Given the description of an element on the screen output the (x, y) to click on. 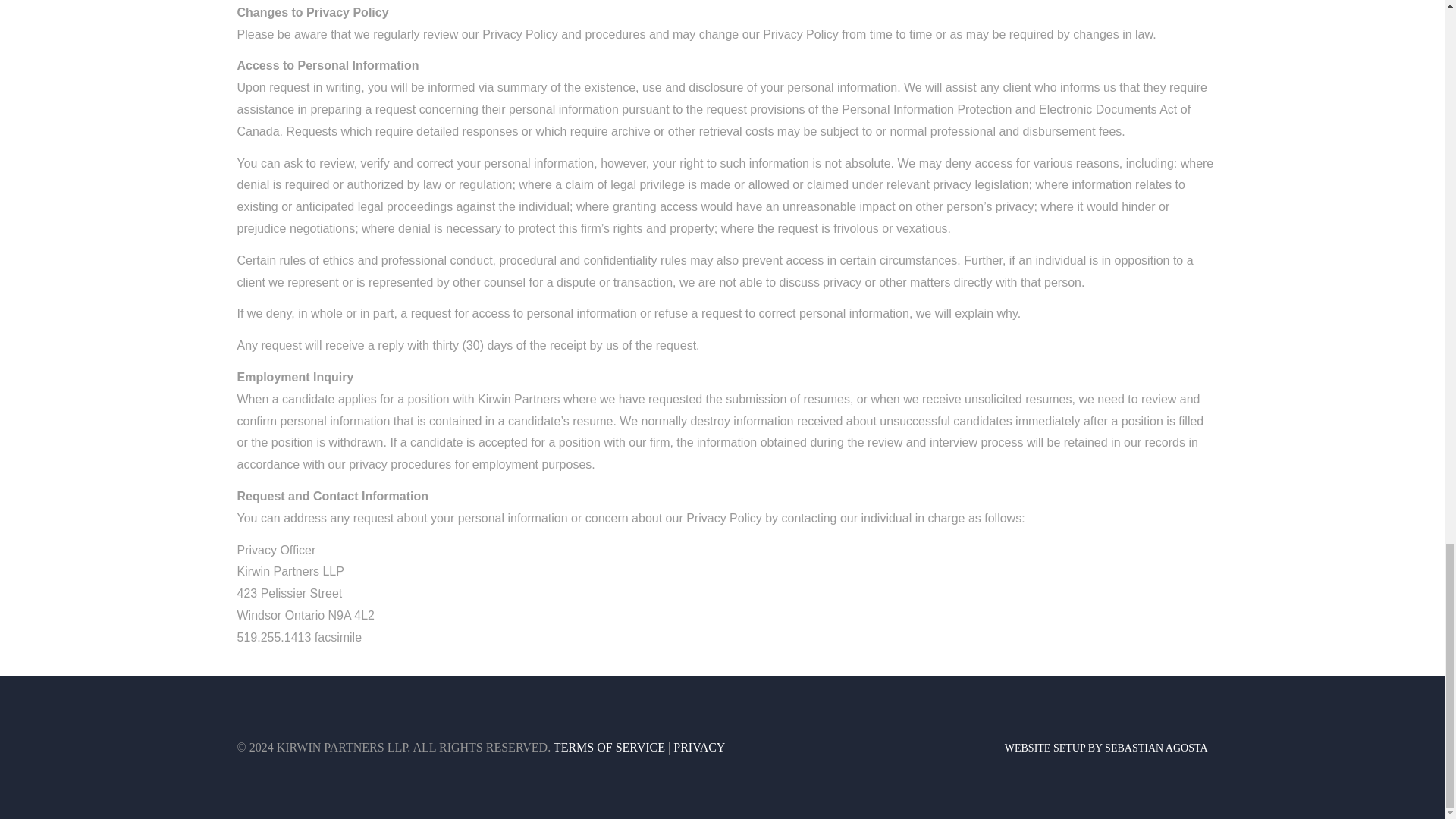
PRIVACY (698, 747)
TERMS OF SERVICE (609, 747)
WEBSITE SETUP BY SEBASTIAN AGOSTA (1106, 747)
